Given the description of an element on the screen output the (x, y) to click on. 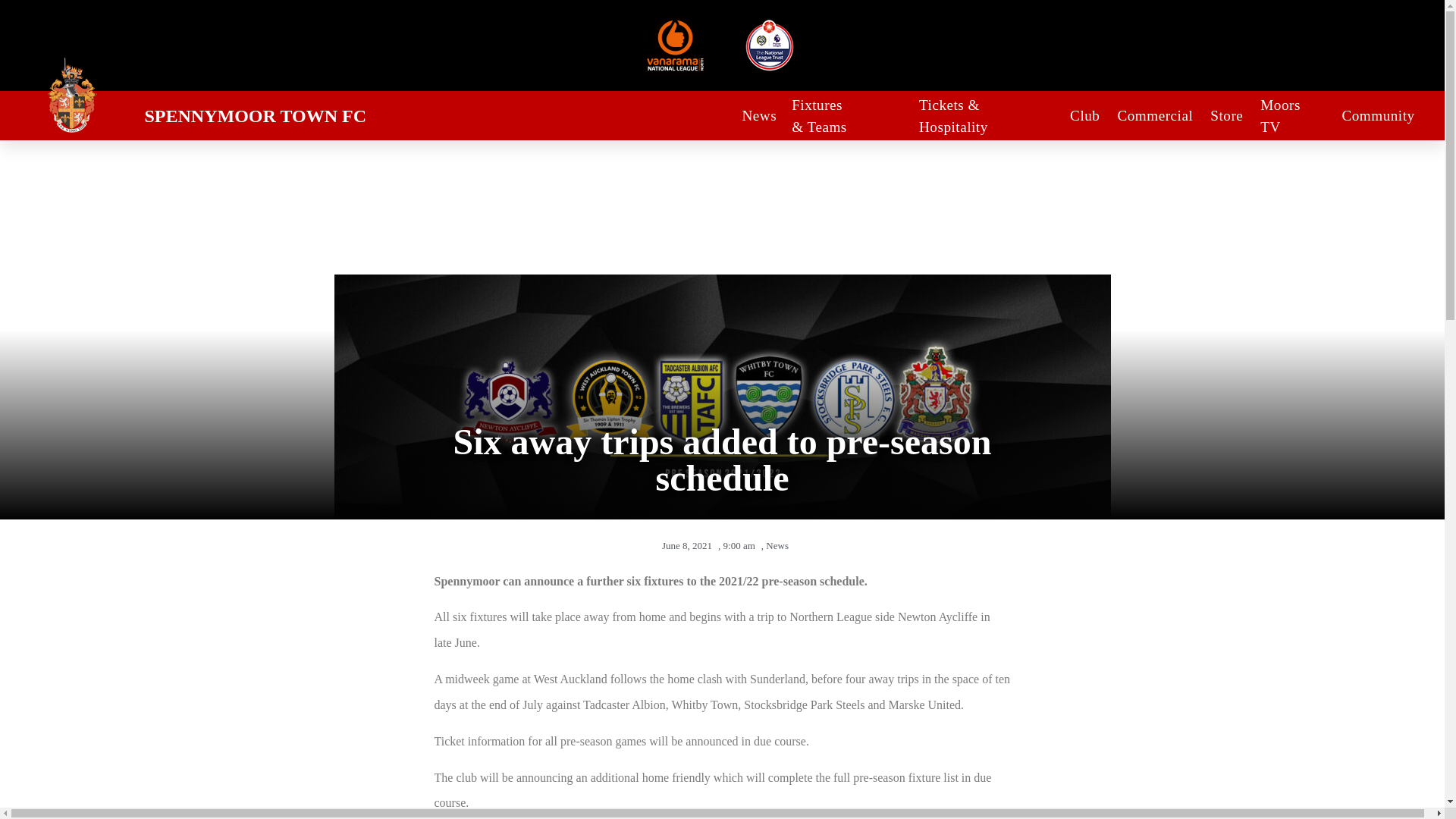
News (758, 116)
SPENNYMOOR TOWN FC (254, 116)
1North (675, 45)
